Given the description of an element on the screen output the (x, y) to click on. 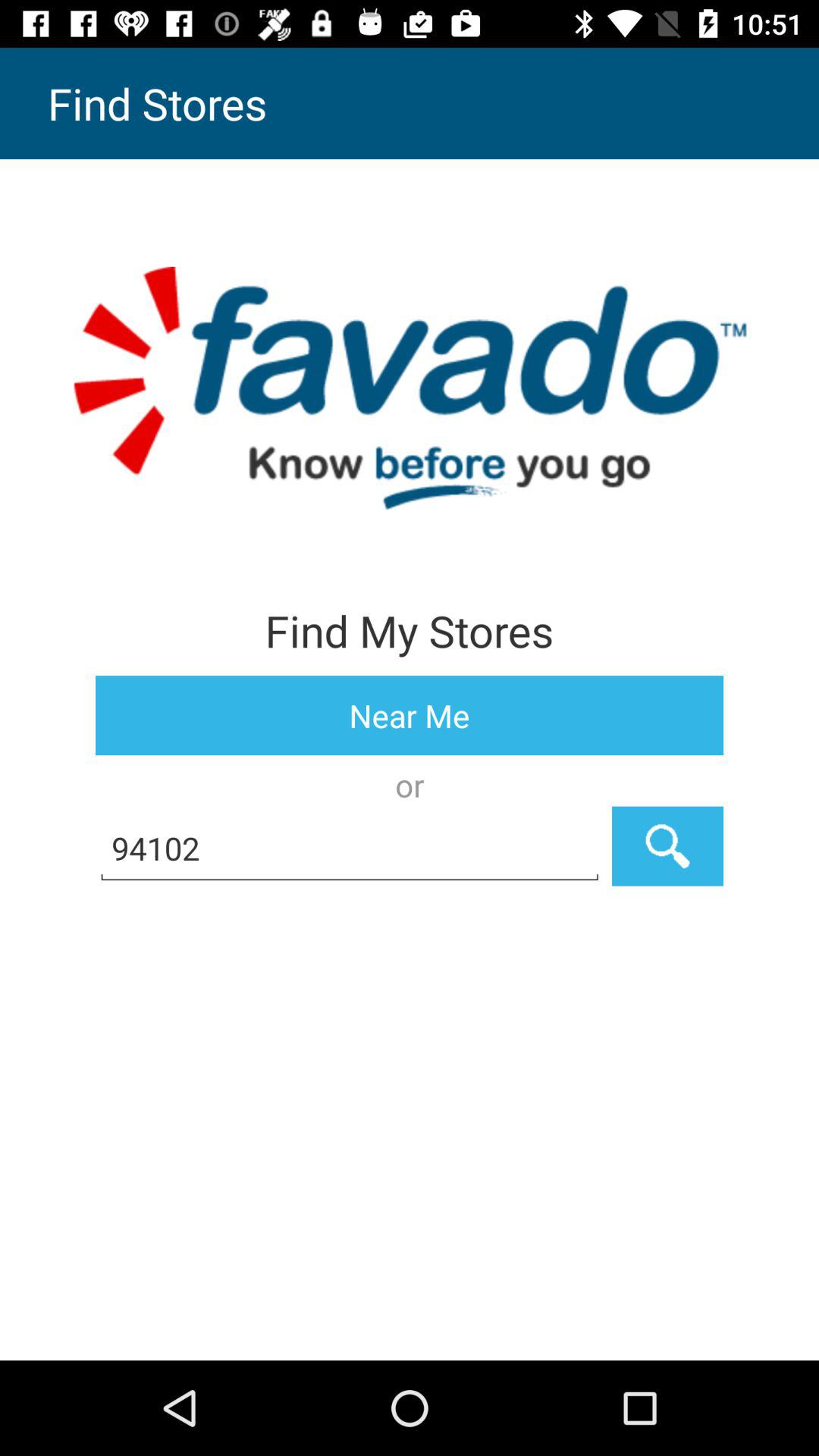
press the item above or item (409, 715)
